Given the description of an element on the screen output the (x, y) to click on. 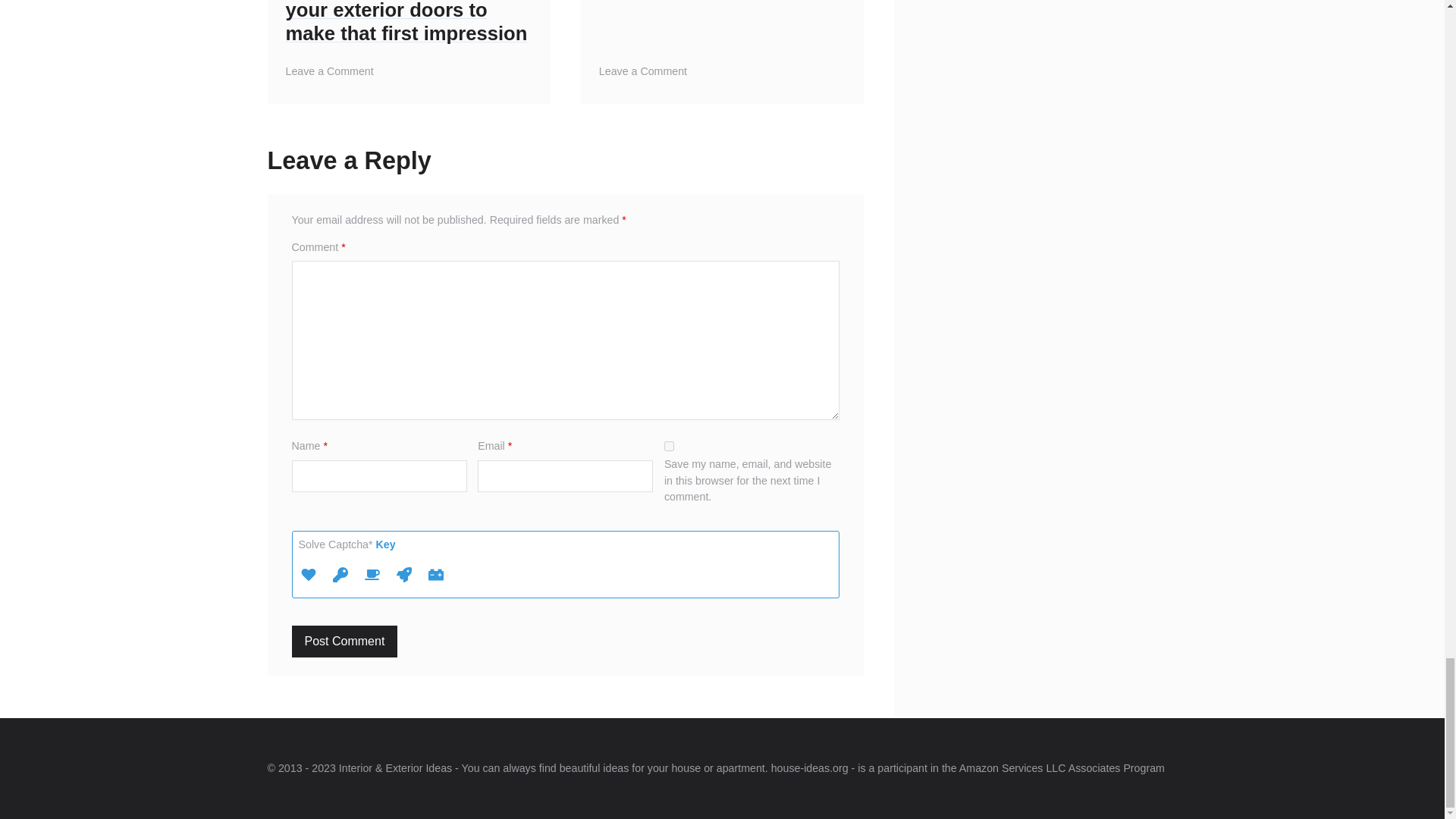
Post Comment (344, 641)
Post Comment (344, 641)
yes (668, 446)
